Given the description of an element on the screen output the (x, y) to click on. 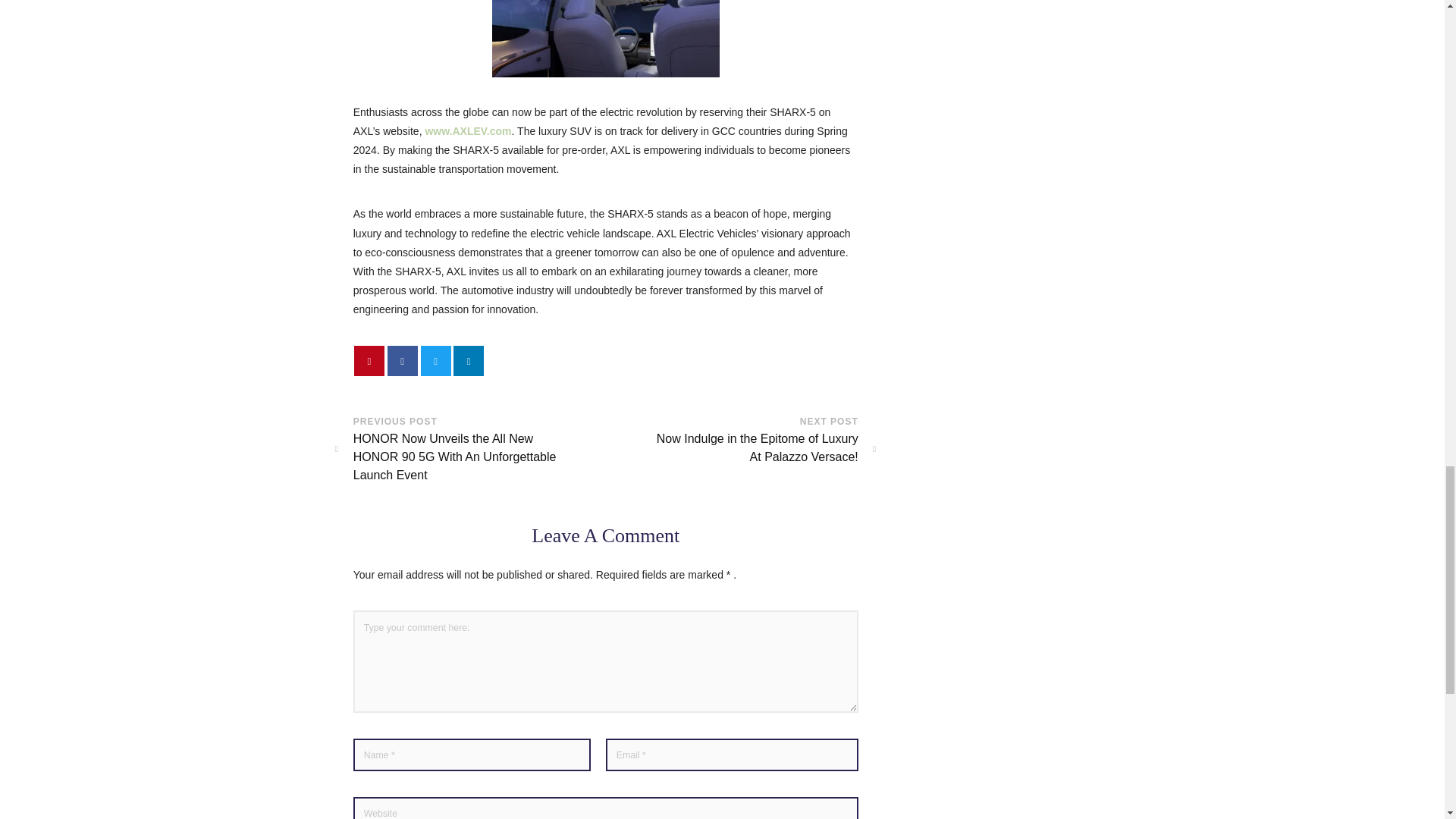
www.AXLEV.com (468, 131)
www.AXLEV.com (468, 131)
